Given the description of an element on the screen output the (x, y) to click on. 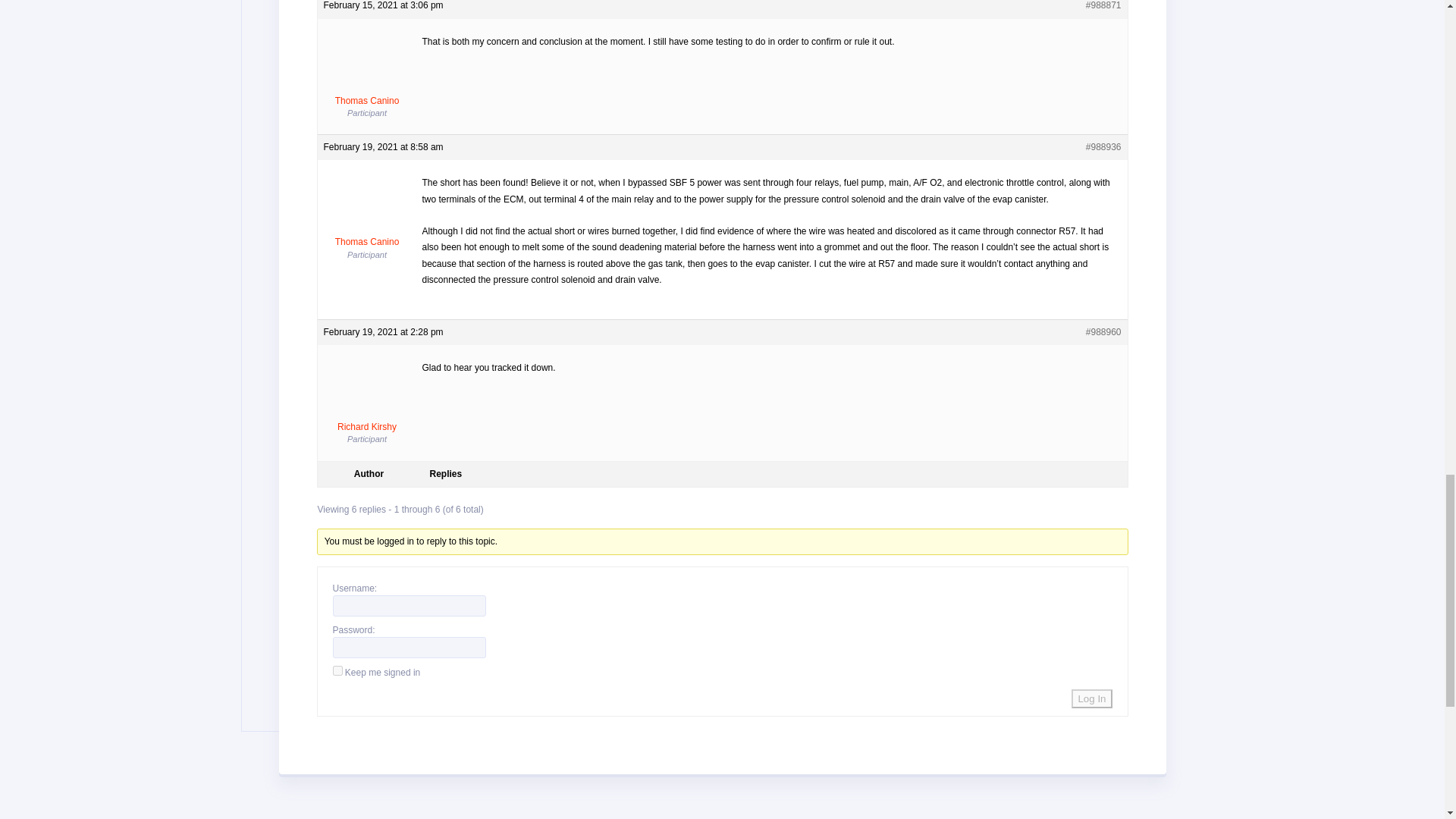
forever (336, 670)
View Thomas Canino's profile (366, 70)
View Richard Kirshy's profile (366, 397)
View Thomas Canino's profile (366, 211)
